Given the description of an element on the screen output the (x, y) to click on. 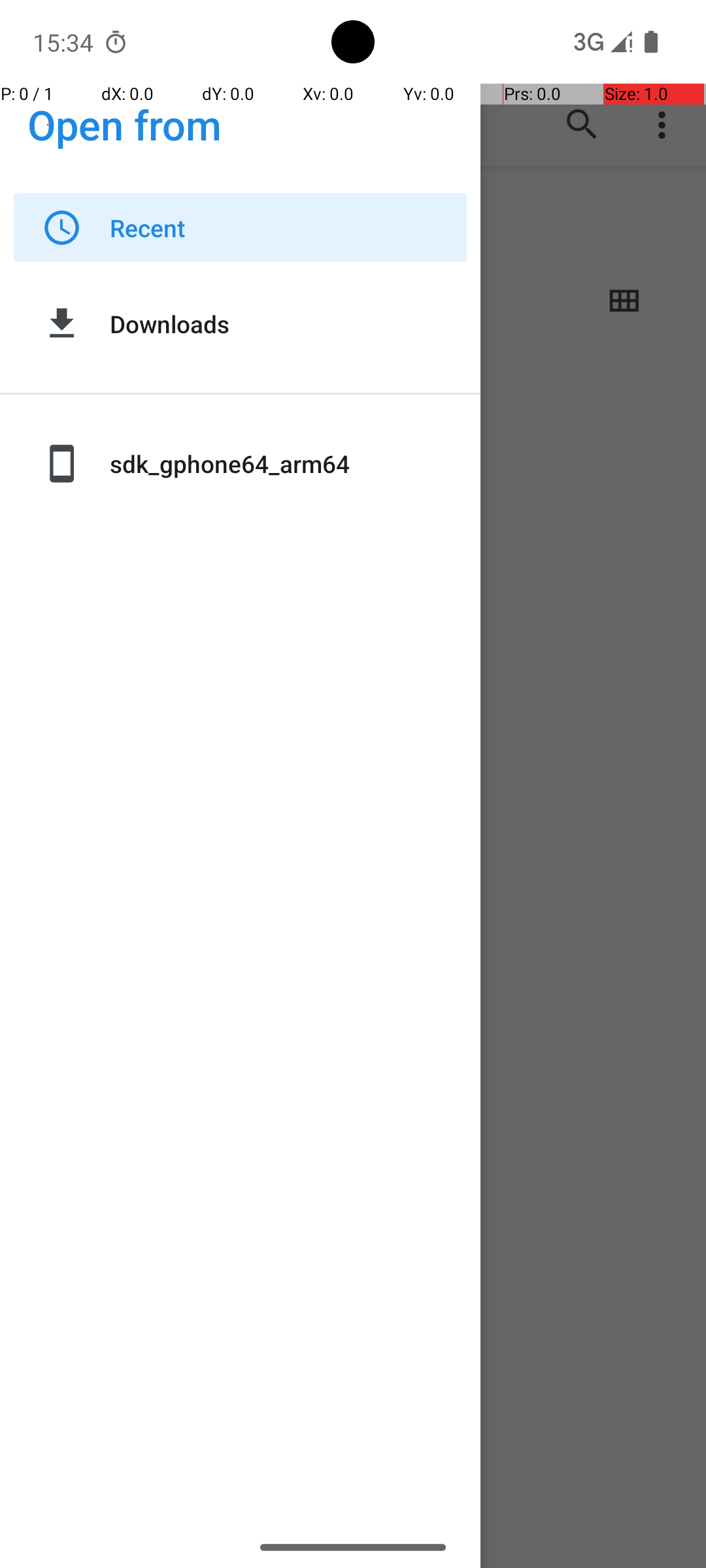
Open from Element type: android.widget.TextView (124, 124)
